Given the description of an element on the screen output the (x, y) to click on. 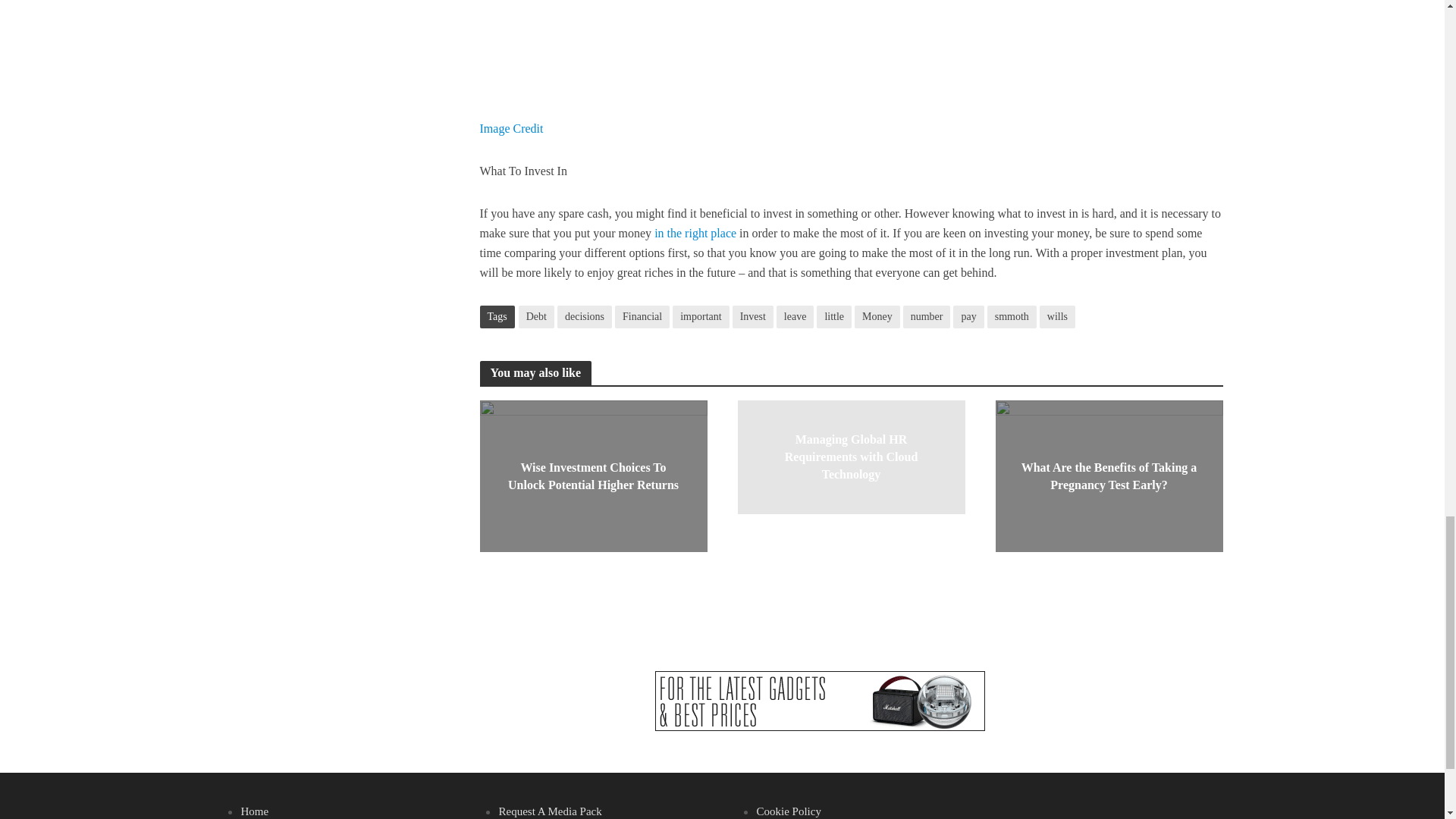
What Are the Benefits of Taking a Pregnancy Test Early? (1108, 474)
Wise Investment Choices To Unlock Potential Higher Returns (592, 474)
